Given the description of an element on the screen output the (x, y) to click on. 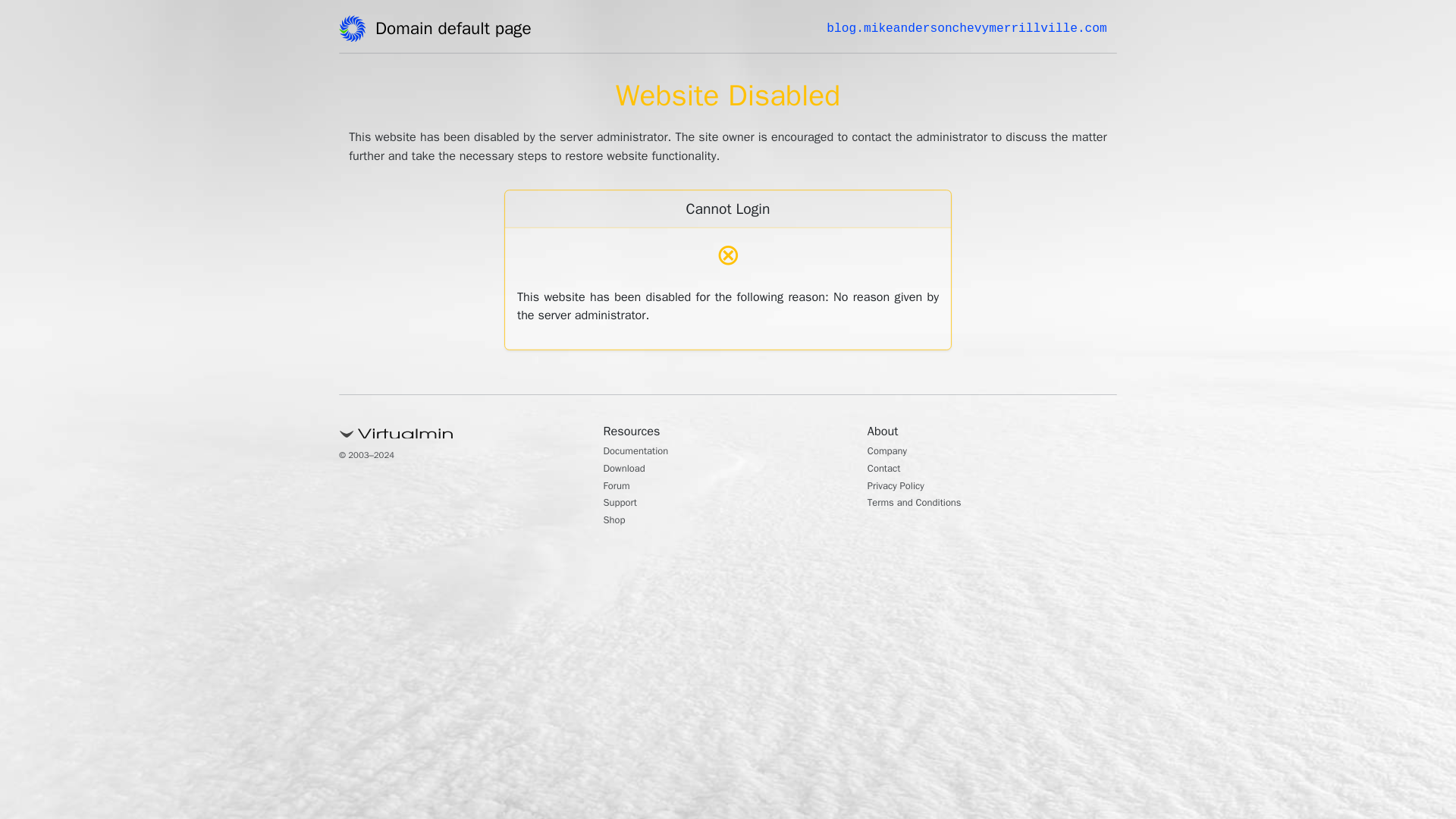
Contact (887, 469)
Terms and Conditions (925, 503)
Documentation (644, 452)
Download (629, 469)
Privacy Policy (902, 487)
Forum (620, 487)
Company (891, 452)
Shop (617, 521)
Support (624, 503)
Domain default page (457, 31)
